Given the description of an element on the screen output the (x, y) to click on. 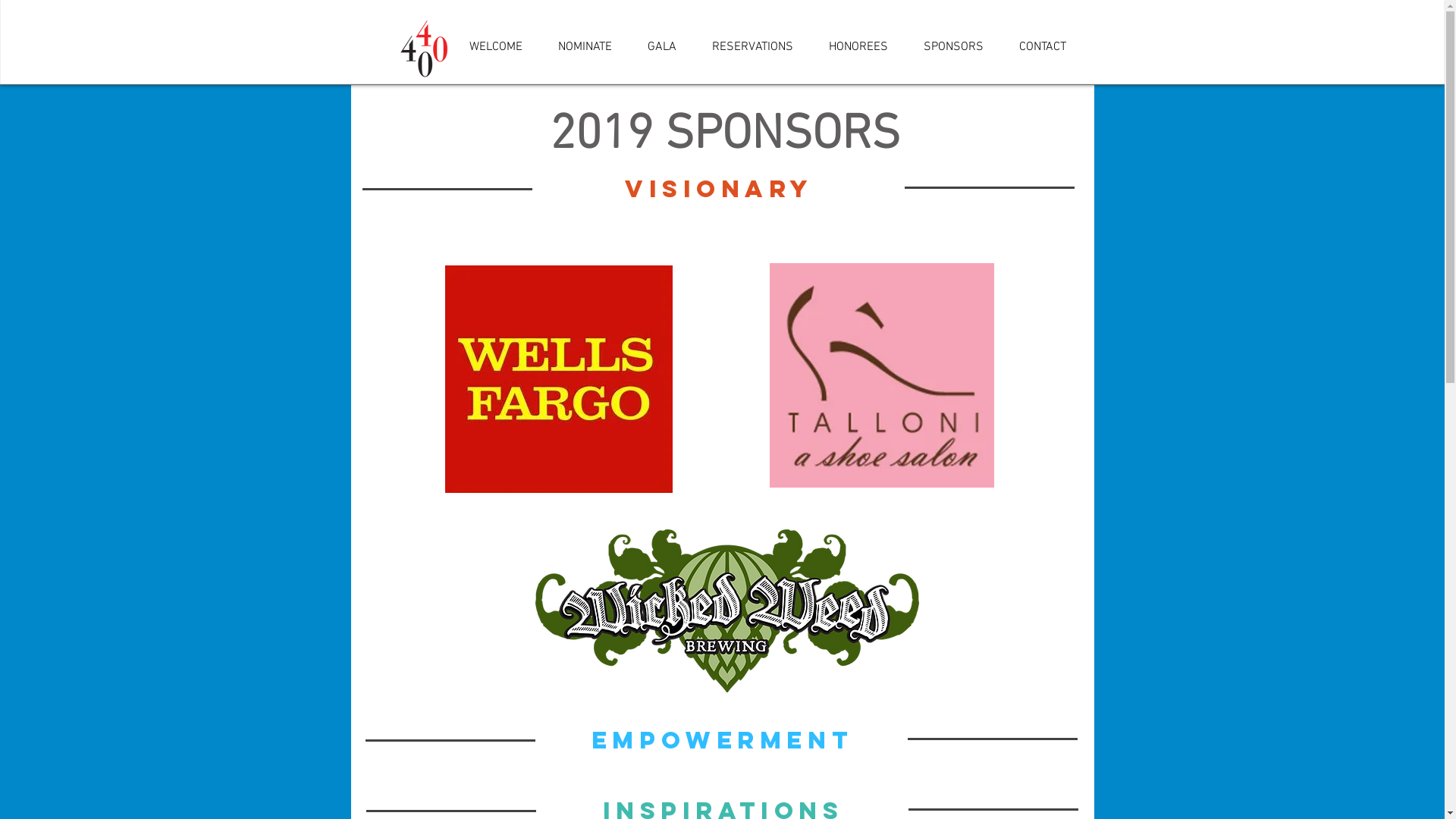
CONTACT Element type: text (1042, 46)
GALA Element type: text (661, 46)
ScreenHunter_20 Feb. 12 11.46.jpg Element type: hover (426, 47)
HONOREES Element type: text (858, 46)
RESERVATIONS Element type: text (752, 46)
SPONSORS Element type: text (953, 46)
NOMINATE Element type: text (584, 46)
WELCOME Element type: text (495, 46)
